Given the description of an element on the screen output the (x, y) to click on. 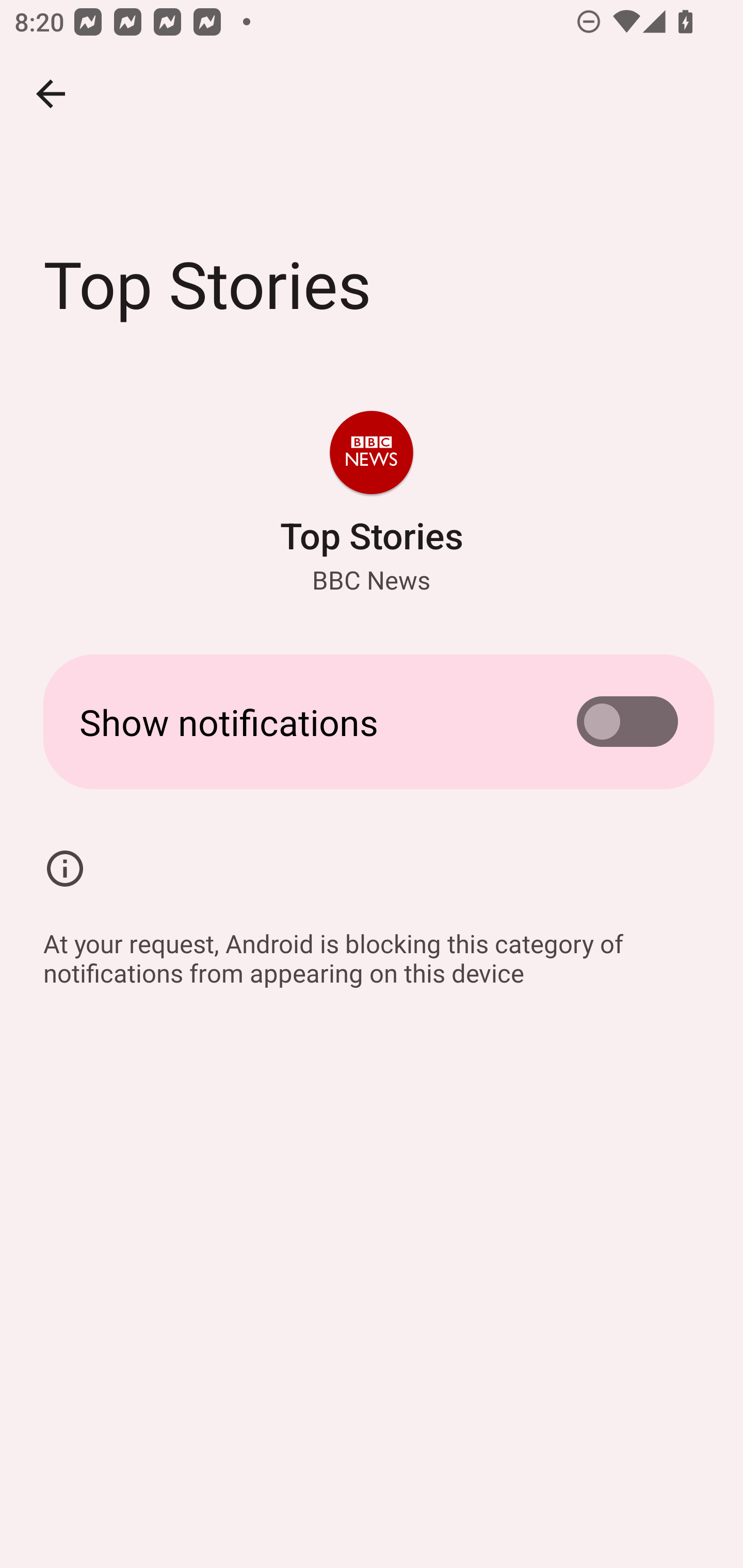
Navigate up (50, 93)
Top Stories BBC News (371, 503)
Show notifications (371, 721)
